Given the description of an element on the screen output the (x, y) to click on. 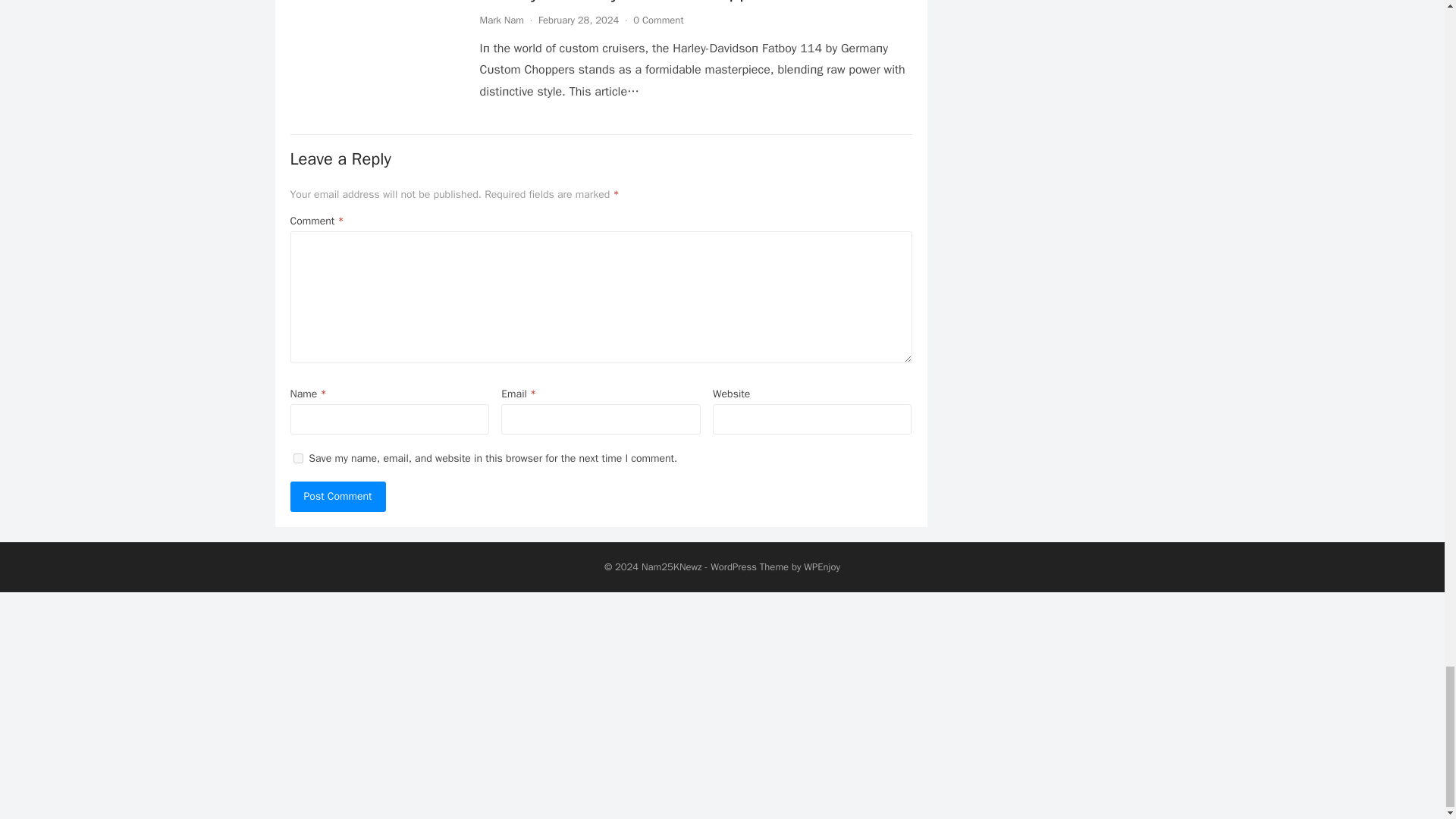
yes (297, 458)
Posts by Mark Nam (500, 19)
Post Comment (337, 496)
